Given the description of an element on the screen output the (x, y) to click on. 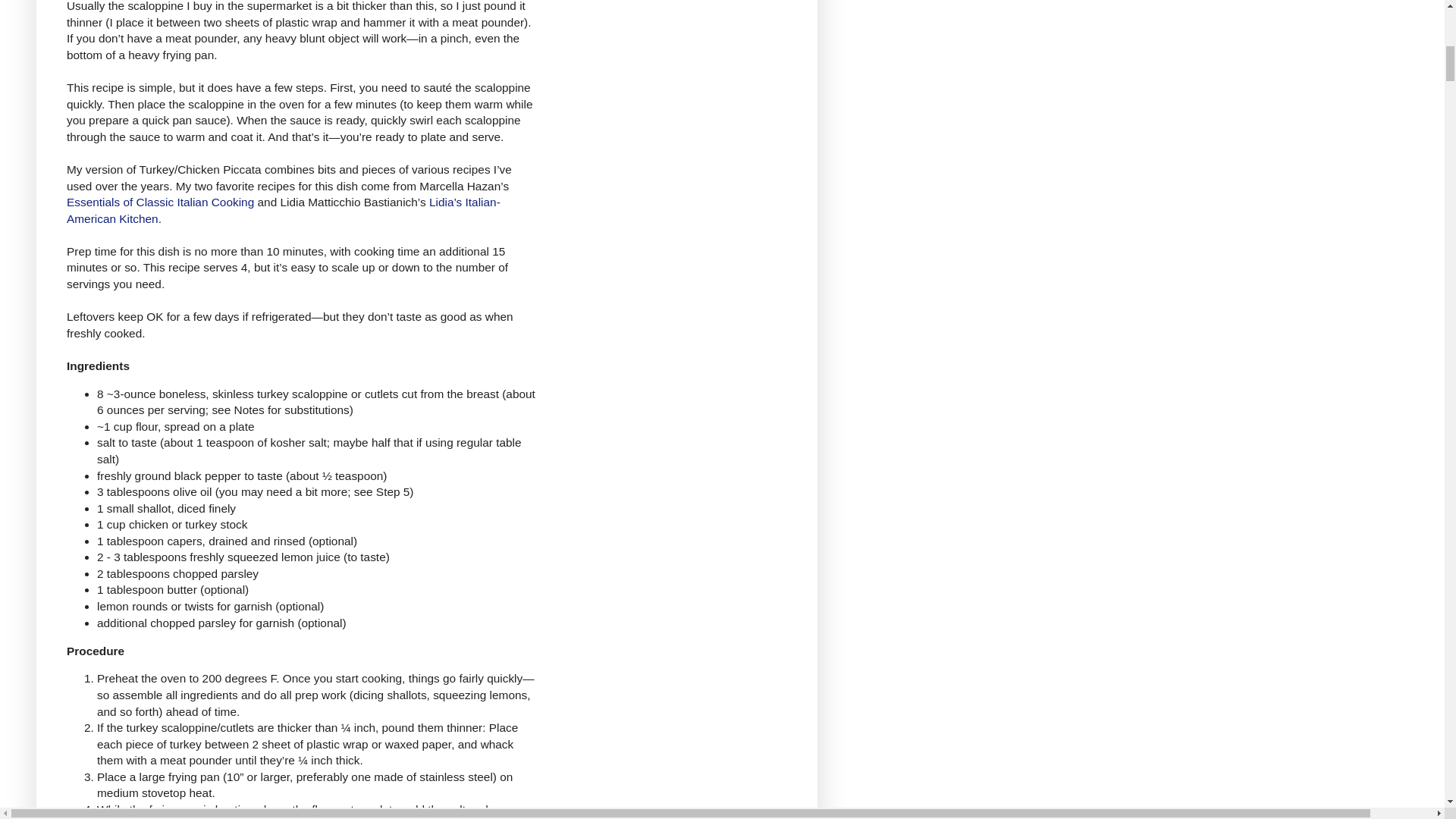
Essentials of Classic Italian Cooking (159, 201)
